Given the description of an element on the screen output the (x, y) to click on. 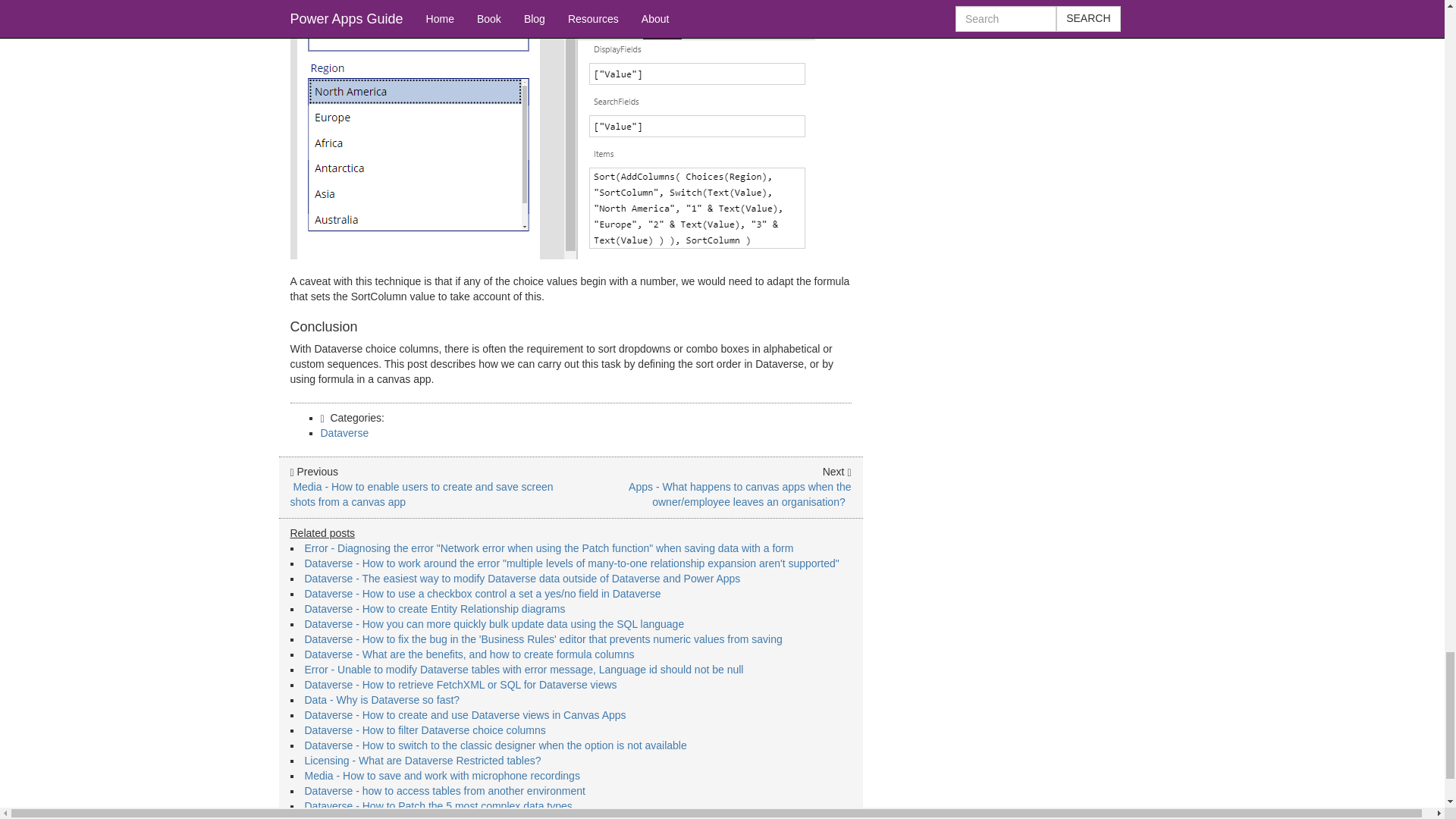
Dataverse - How to Patch the 5 most complex data types (438, 806)
Dataverse - how to access tables from another environment (444, 790)
Media - How to save and work with microphone recordings (441, 775)
Dataverse (344, 432)
Data - Why is Dataverse so fast? (382, 699)
Dataverse - How to create Entity Relationship diagrams (435, 608)
